Given the description of an element on the screen output the (x, y) to click on. 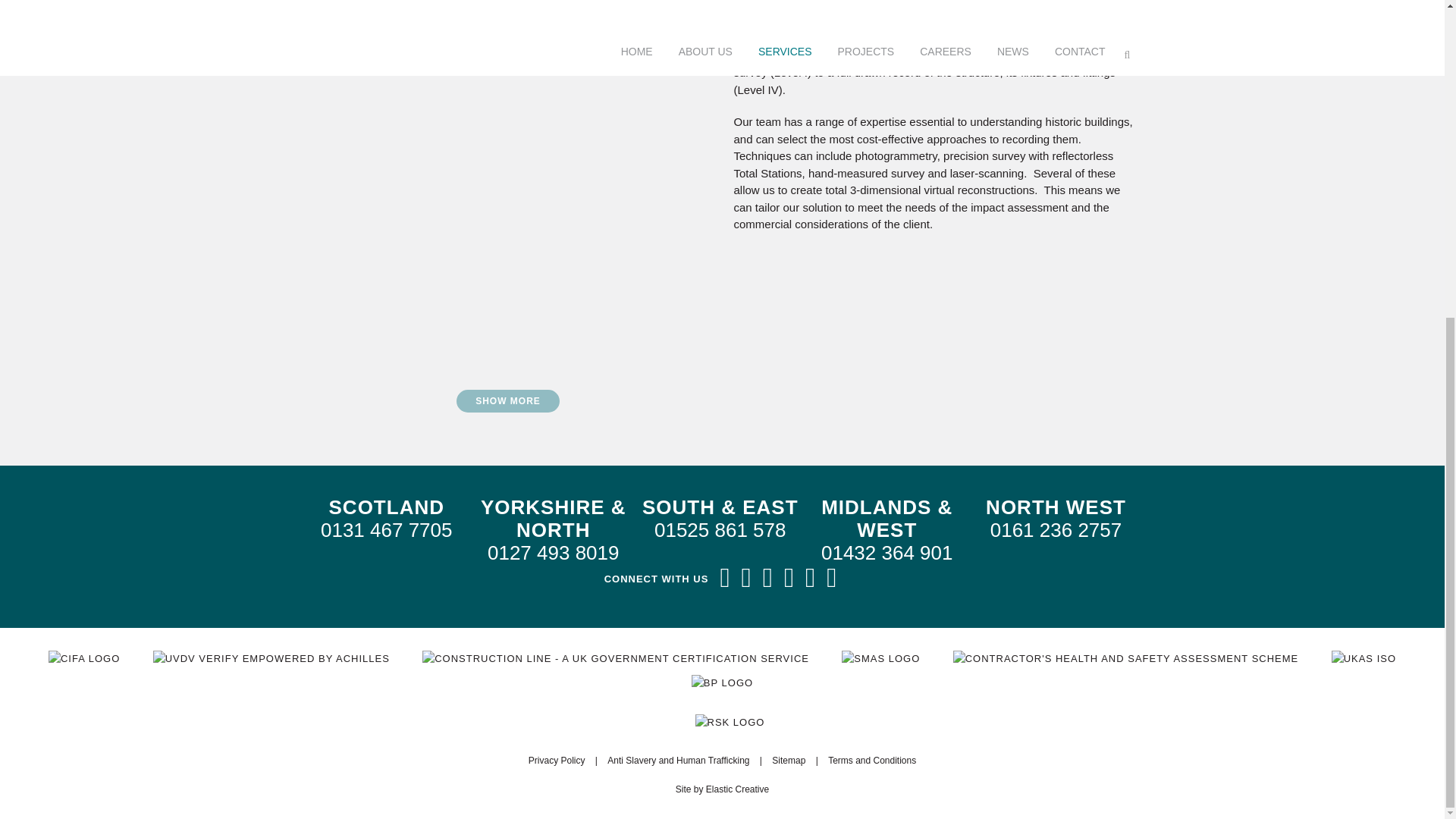
ISO 9001 (1364, 658)
RSK (730, 722)
Contractor's Health and Safety Assessment Scheme (1125, 658)
SMAS Worksafe Certificate - an SSIP Member Scheme (880, 658)
Builders Profile (721, 682)
